Given the description of an element on the screen output the (x, y) to click on. 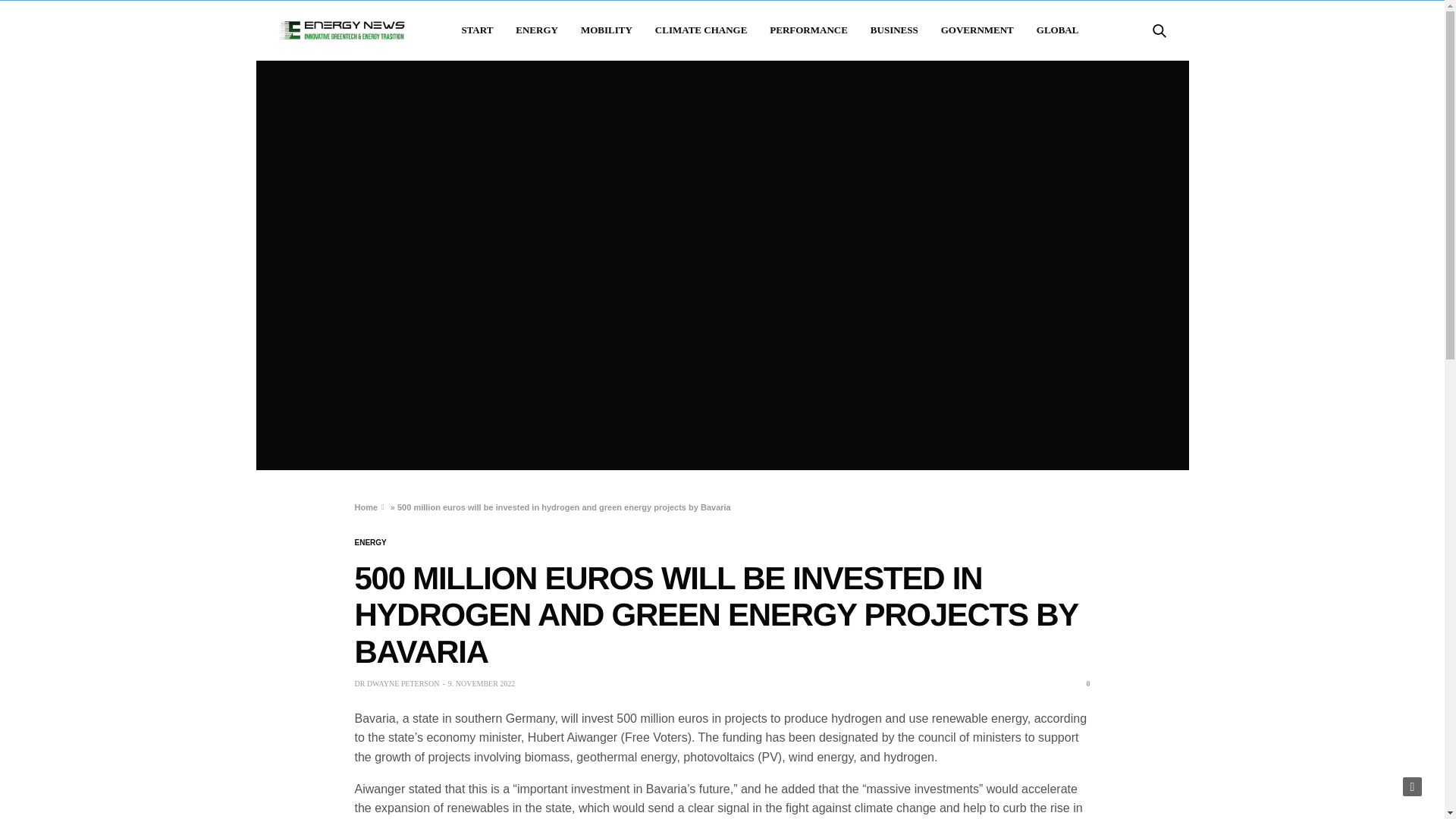
MOBILITY (605, 30)
GOVERNMENT (976, 30)
PERFORMANCE (808, 30)
GLOBAL (1057, 30)
ENERGY (371, 542)
CLIMATE CHANGE (700, 30)
DR DWAYNE PETERSON (397, 684)
BUSINESS (894, 30)
ENERGY (536, 30)
